Given the description of an element on the screen output the (x, y) to click on. 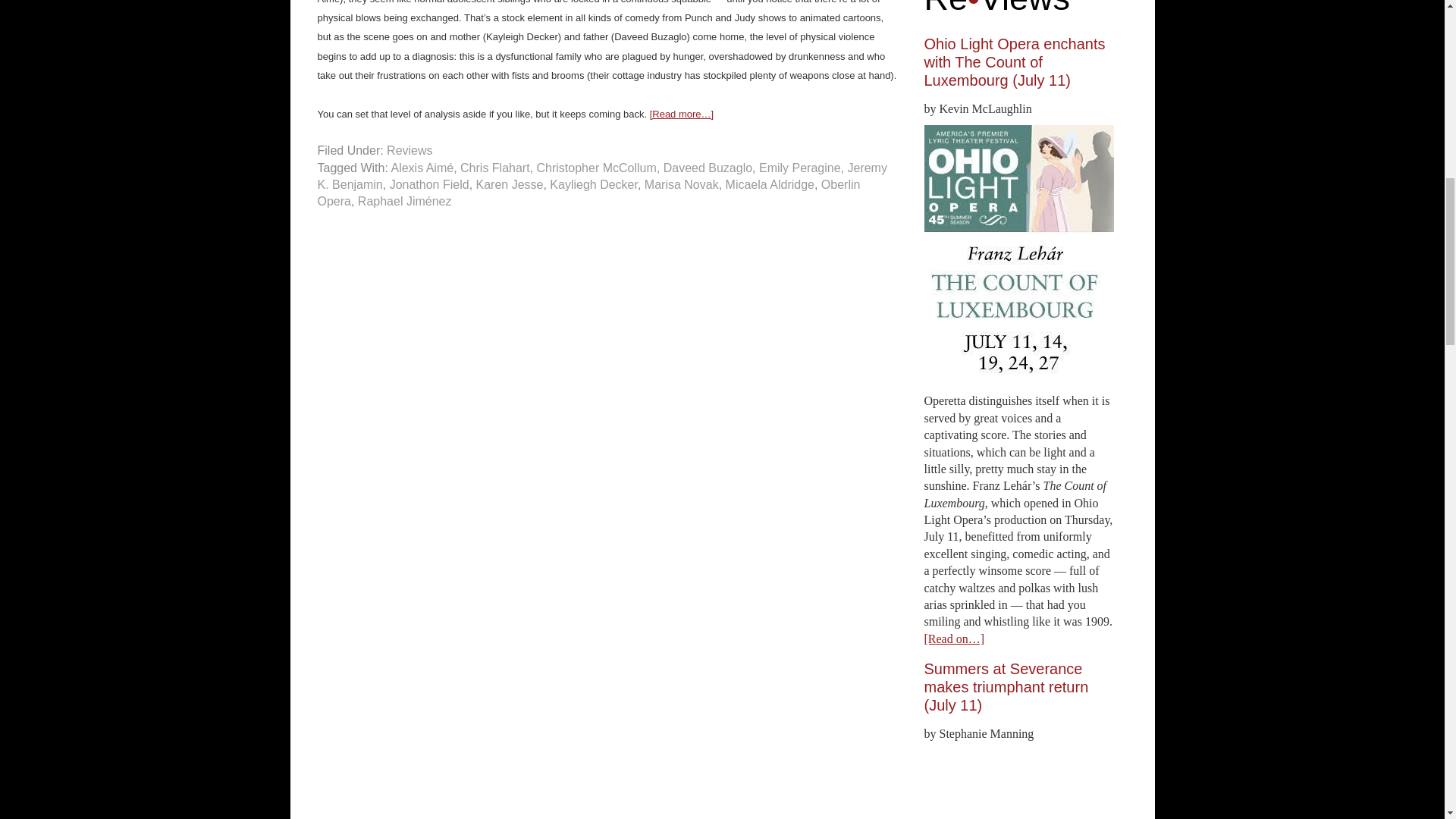
Kayliegh Decker (593, 184)
Jeremy K. Benjamin (601, 175)
Marisa Novak (682, 184)
Emily Peragine (799, 167)
Karen Jesse (509, 184)
Daveed Buzaglo (707, 167)
Christopher McCollum (596, 167)
Reviews (409, 150)
Chris Flahart (494, 167)
Micaela Aldridge (769, 184)
Oberlin Opera (588, 193)
Jonathon Field (429, 184)
